Given the description of an element on the screen output the (x, y) to click on. 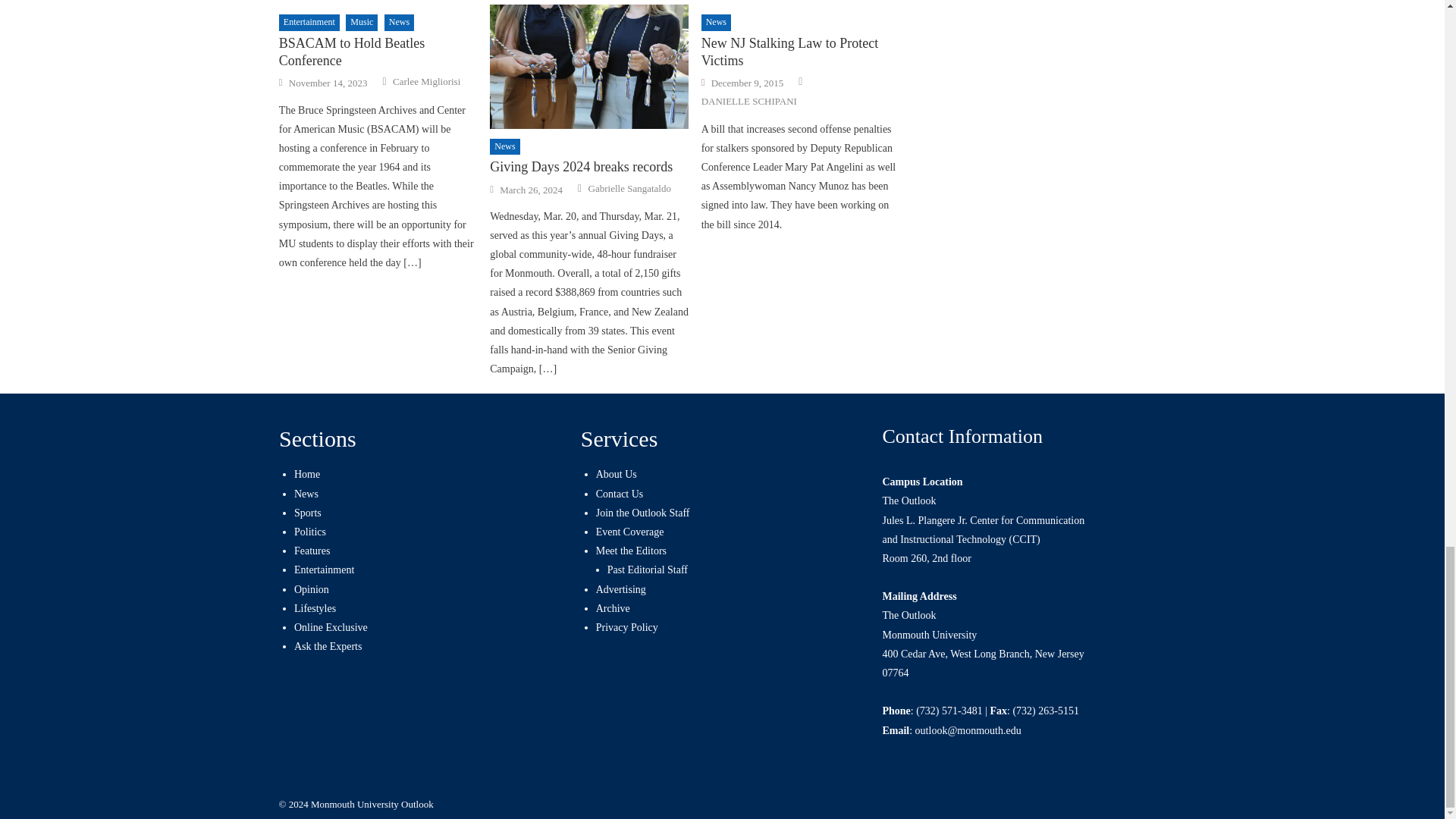
Gabrielle Sangataldo (629, 187)
Posts by Gabrielle Sangataldo (629, 187)
November 14, 2023 (328, 83)
Music (361, 22)
Giving Days 2024 breaks records (588, 167)
Giving Days 2024 breaks records (588, 66)
News (504, 146)
March 26, 2024 (530, 189)
Posts by Carlee Migliorisi (426, 81)
Carlee Migliorisi (426, 81)
BSACAM to Hold Beatles Conference (378, 52)
News (398, 22)
Posts by DANIELLE SCHIPANI (748, 101)
Entertainment (309, 22)
